Given the description of an element on the screen output the (x, y) to click on. 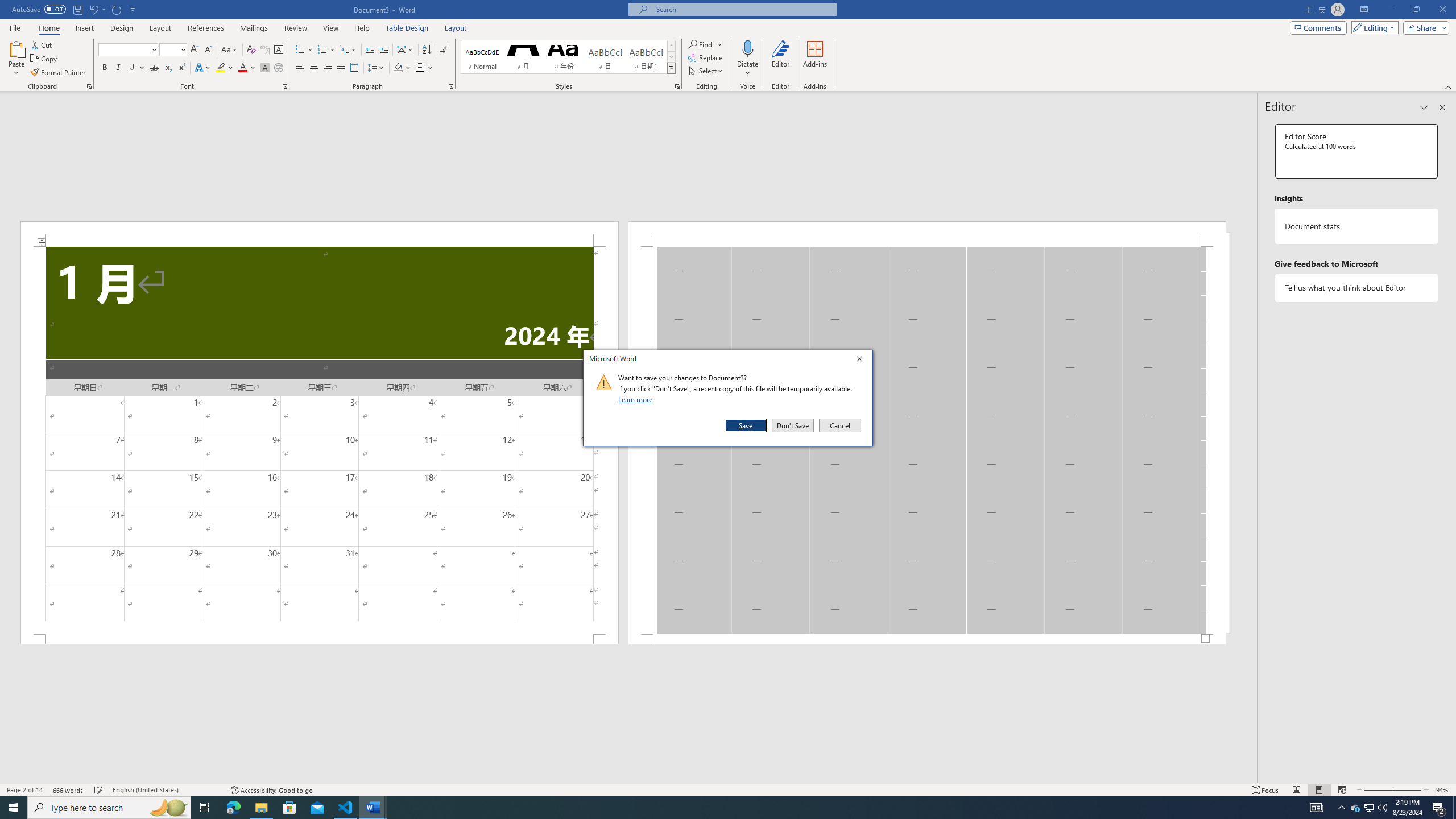
Font Size (172, 49)
System (6, 6)
Distributed (354, 67)
Word Count 666 words (68, 790)
Line and Paragraph Spacing (376, 67)
Task Pane Options (1423, 107)
Phonetic Guide... (264, 49)
Borders (419, 67)
Ribbon Display Options (1368, 807)
Increase Indent (1364, 9)
Microsoft search (383, 49)
Quick Access Toolbar (742, 9)
